Given the description of an element on the screen output the (x, y) to click on. 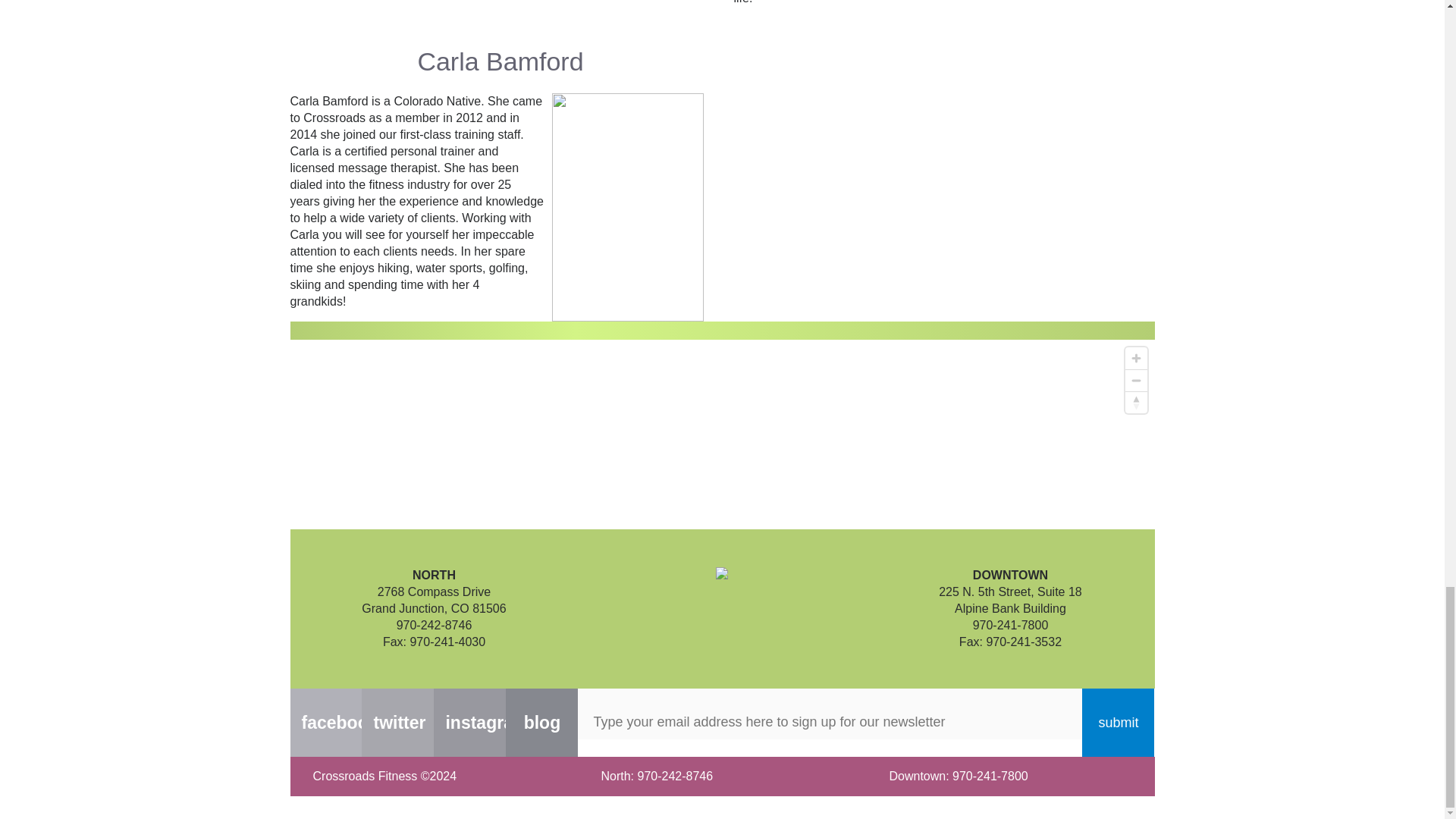
Zoom out (1136, 380)
Reset bearing to north (1136, 402)
submit (1117, 722)
facebook (325, 722)
Zoom in (1136, 358)
